Given the description of an element on the screen output the (x, y) to click on. 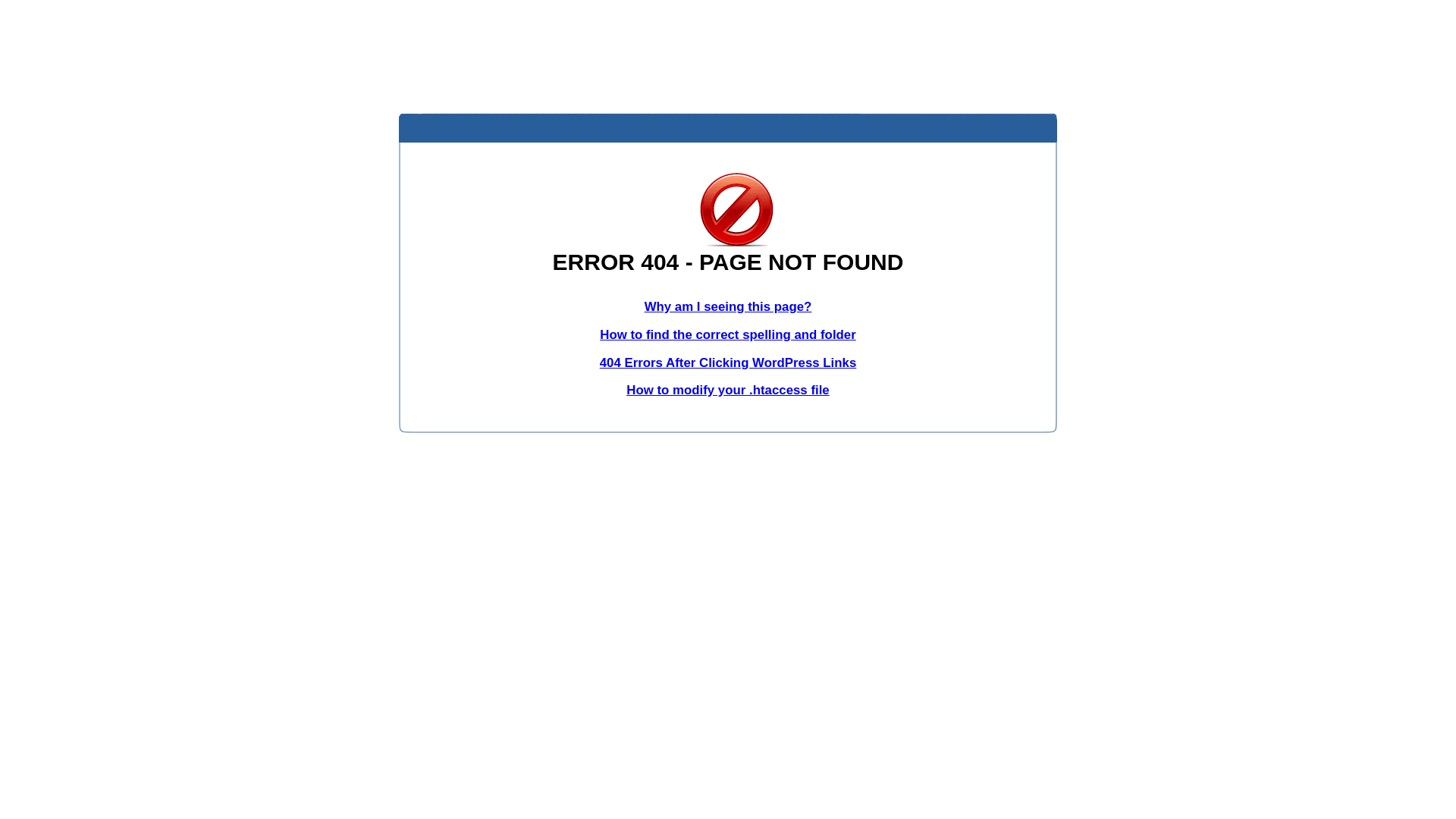
Why am I seeing this page? Element type: text (728, 306)
How to find the correct spelling and folder Element type: text (727, 334)
404 Errors After Clicking WordPress Links Element type: text (727, 362)
How to modify your .htaccess file Element type: text (727, 389)
